Given the description of an element on the screen output the (x, y) to click on. 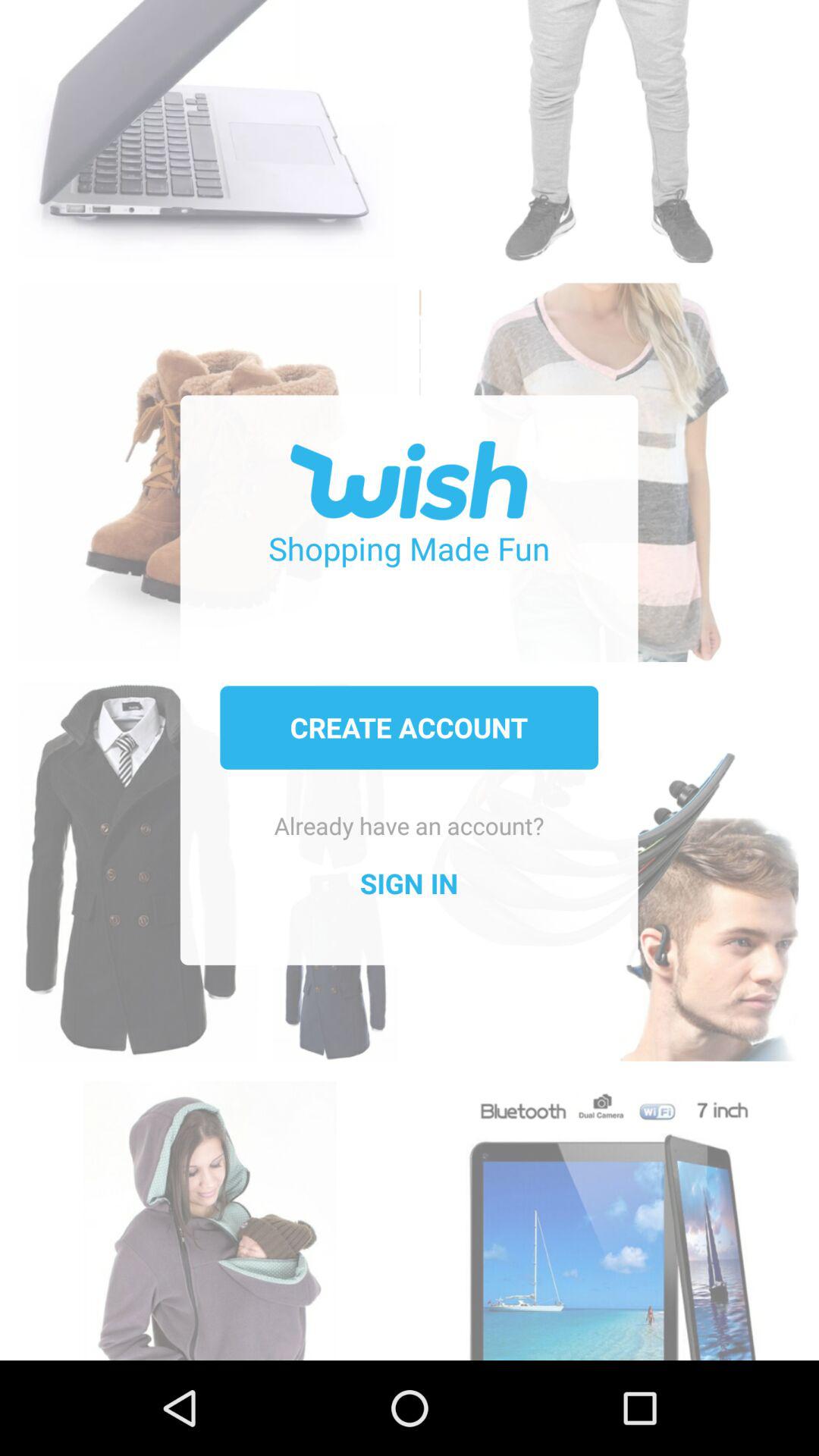
launch item below already have an (409, 883)
